Given the description of an element on the screen output the (x, y) to click on. 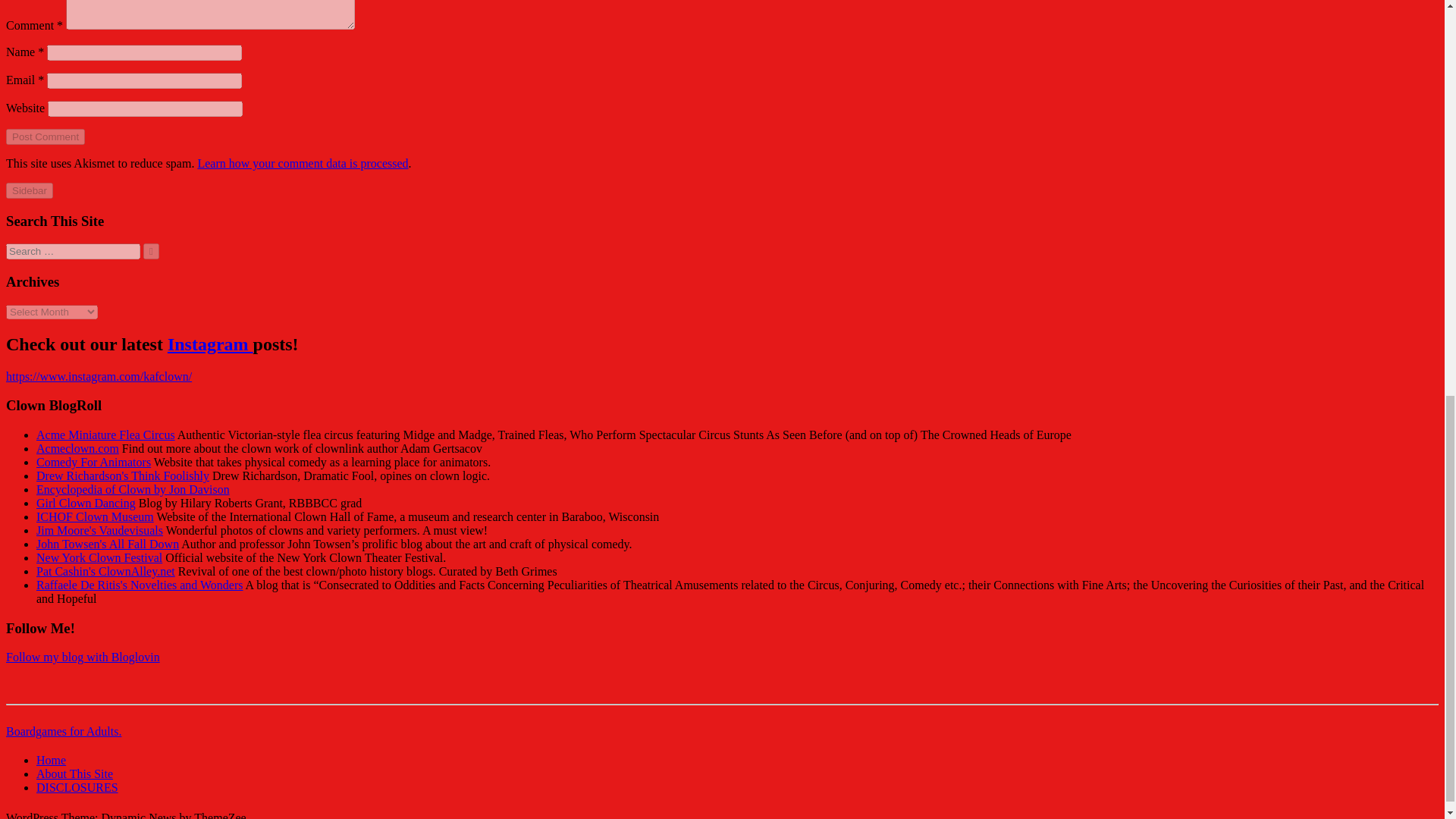
New York Clown Festival (98, 557)
ICHOF Clown Museum (95, 516)
Acme Miniature Flea Circus (105, 434)
Pat Cashin's ClownAlley.net (105, 571)
Official website of the New York Clown Theater Festival. (98, 557)
Blog by Hilary Roberts Grant, RBBBCC grad (85, 502)
Follow my blog with Bloglovin (82, 656)
Post Comment (44, 136)
Instagram (210, 343)
